Given the description of an element on the screen output the (x, y) to click on. 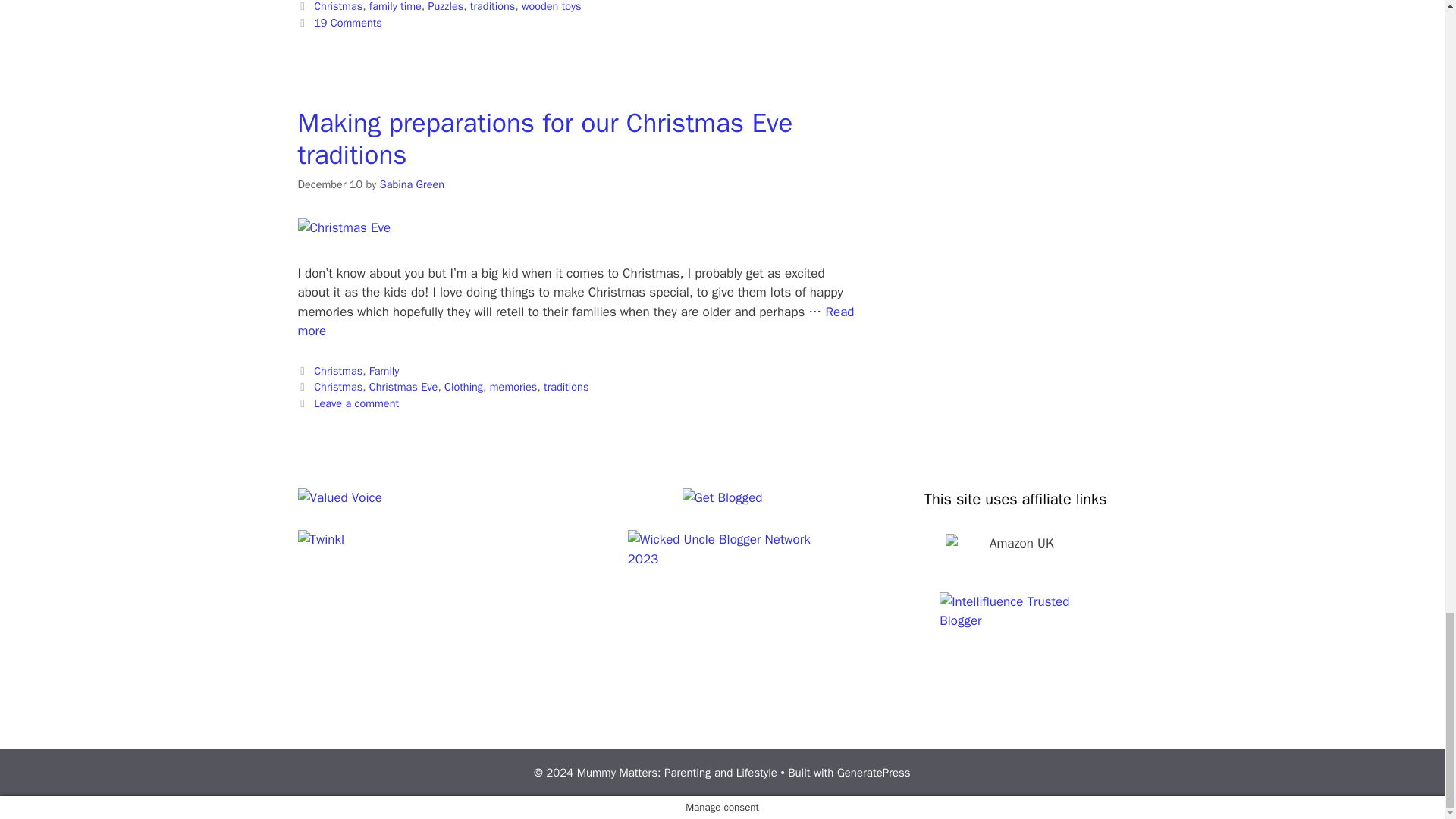
Making preparations for our Christmas Eve traditions (575, 321)
View all posts by Sabina Green (412, 183)
Making preparations for our Christmas Eve traditions 5 (343, 228)
